Given the description of an element on the screen output the (x, y) to click on. 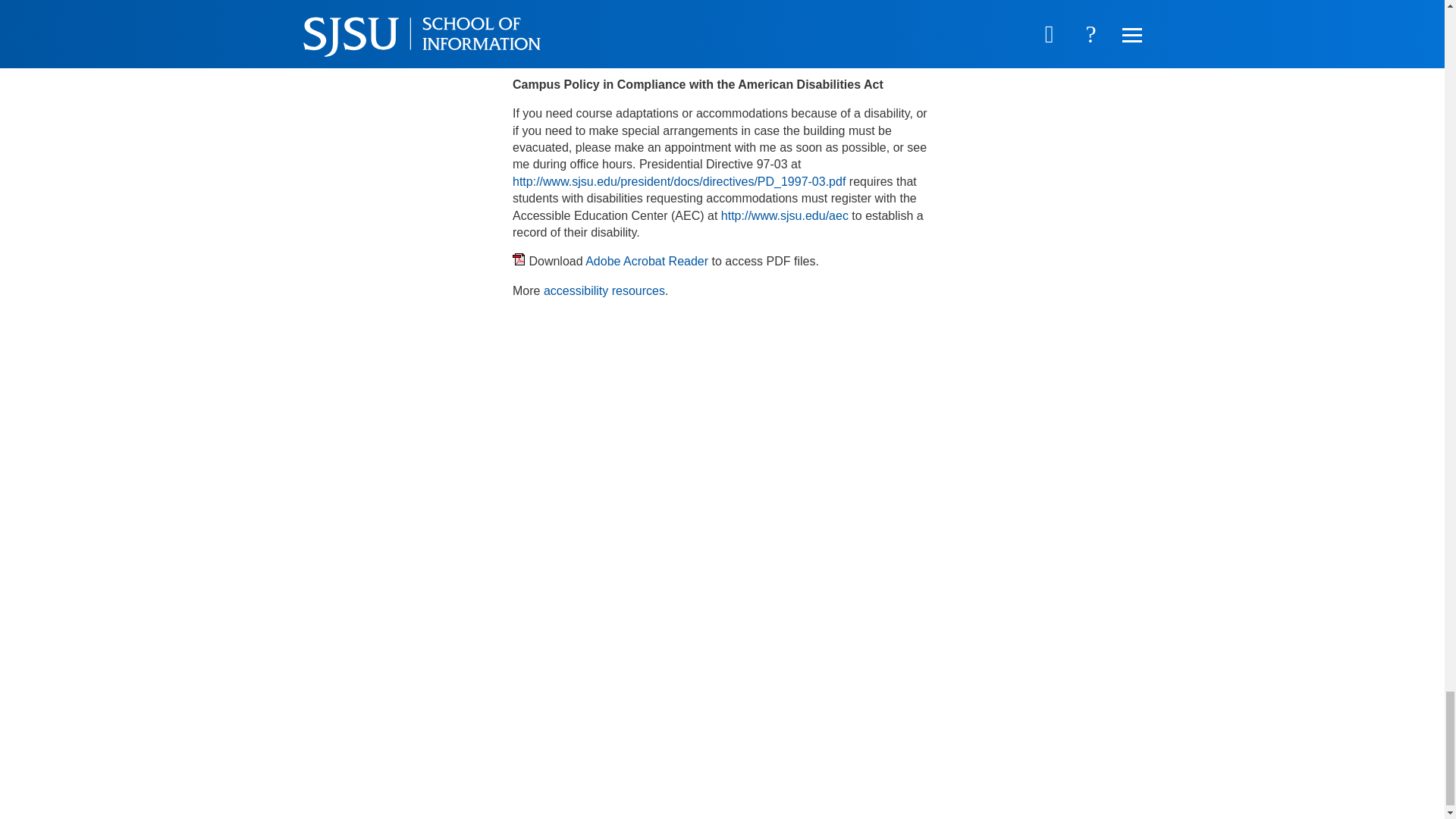
University Policy Ethical Conduct (609, 54)
